Given the description of an element on the screen output the (x, y) to click on. 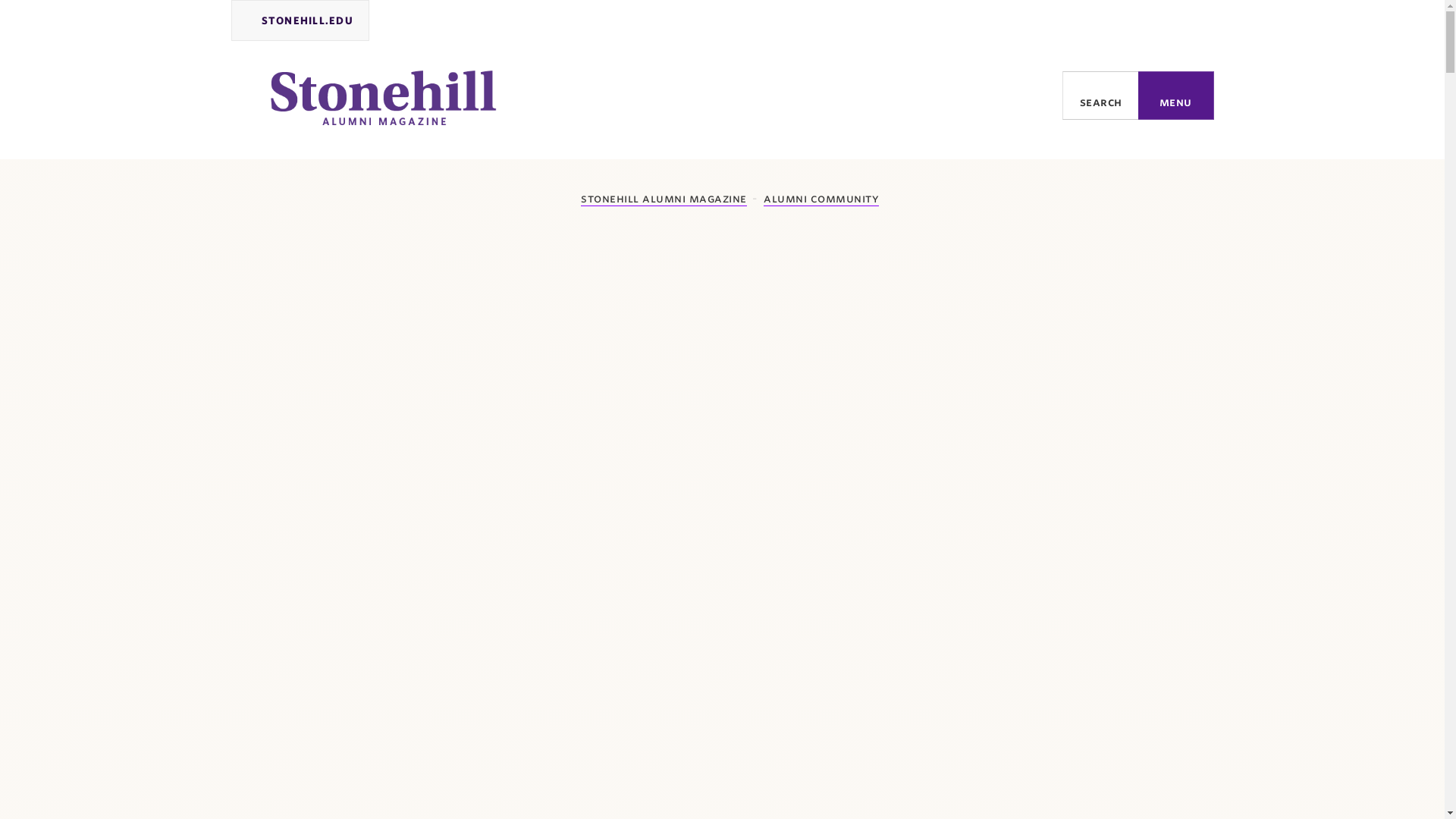
alumni community (820, 198)
stonehill alumni magazine (655, 198)
search (1100, 95)
menu (1176, 95)
STONEHILL.EDU (300, 20)
